Given the description of an element on the screen output the (x, y) to click on. 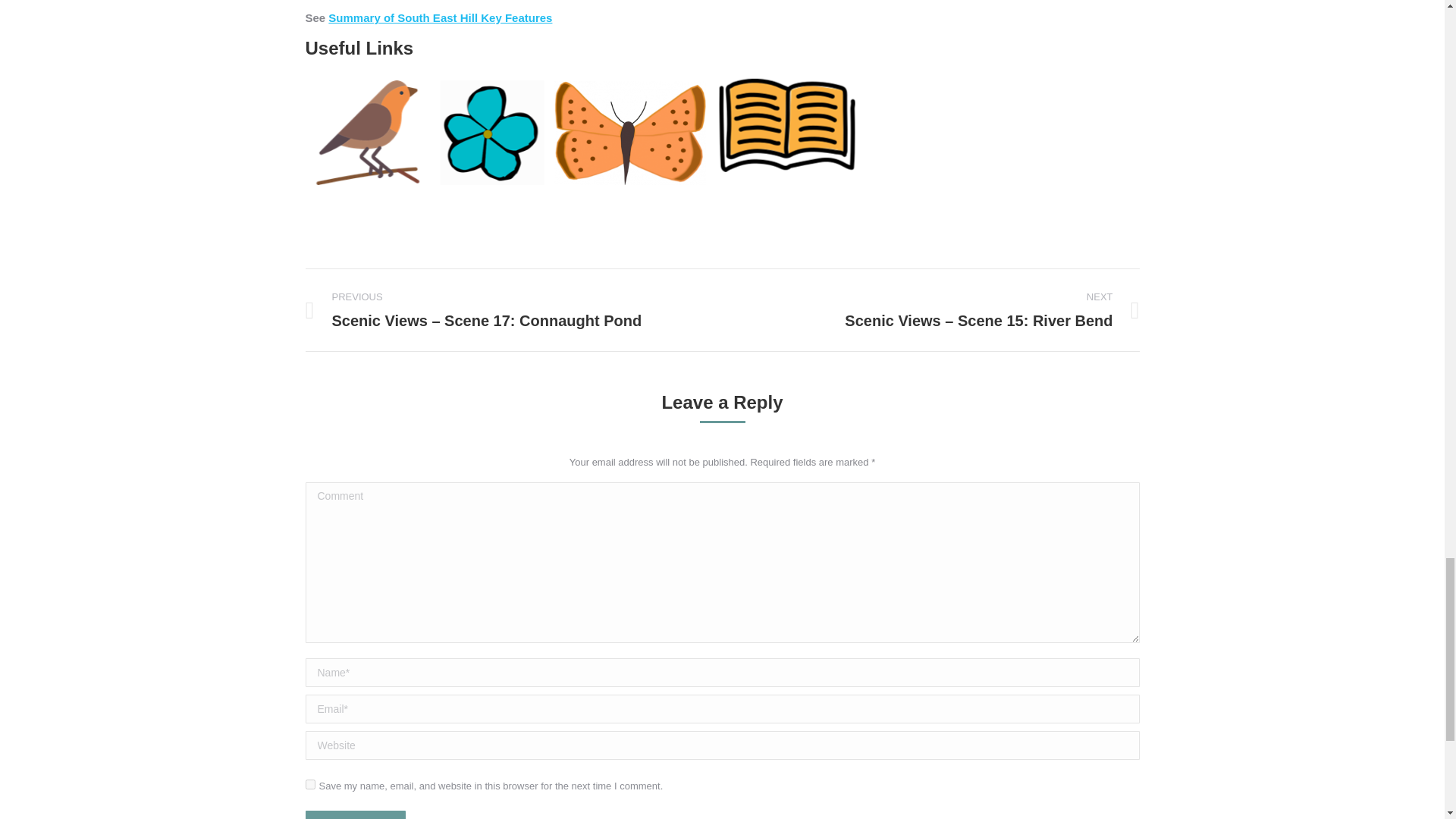
yes (309, 784)
